Given the description of an element on the screen output the (x, y) to click on. 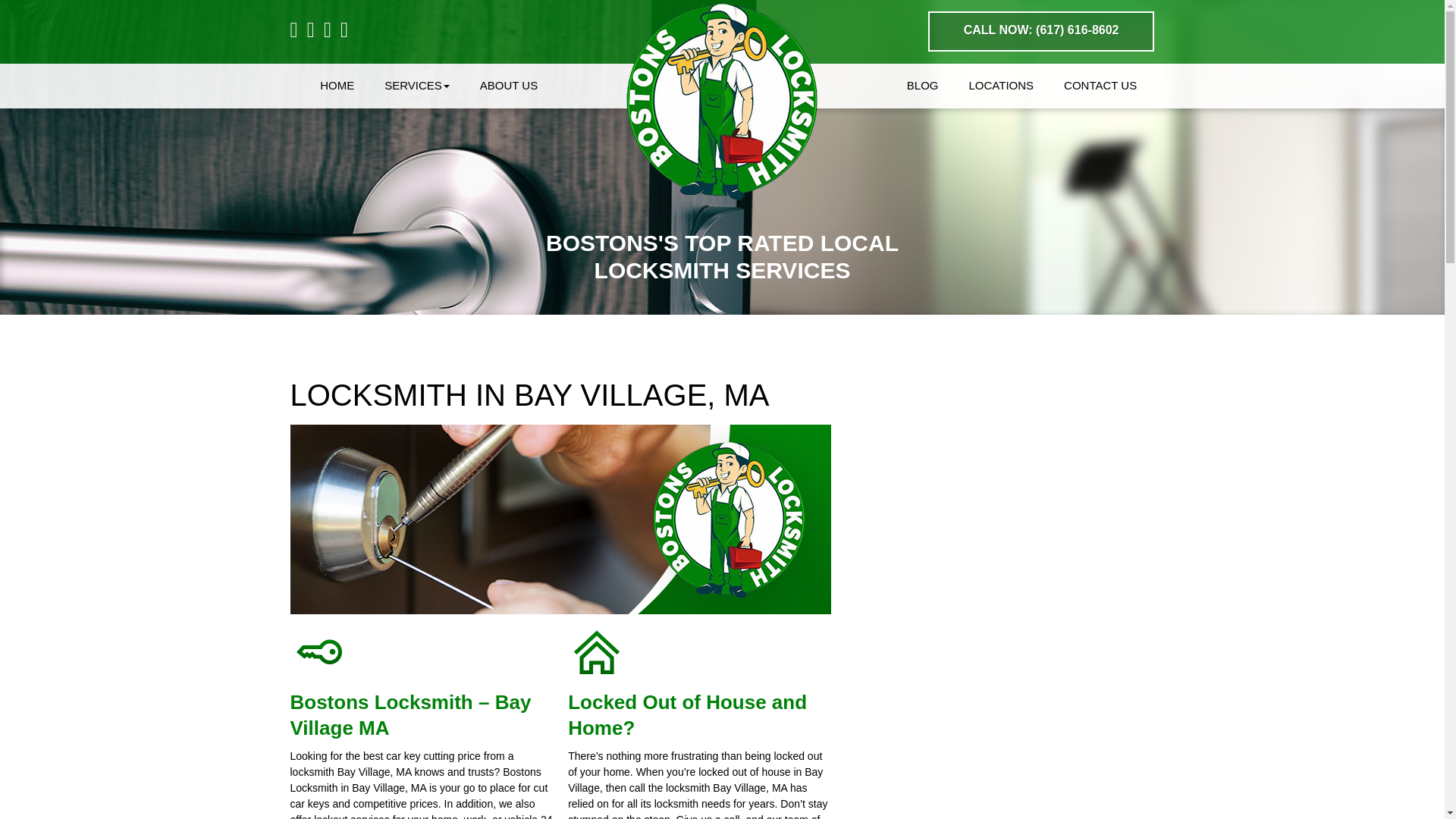
CONTACT US (1085, 85)
HOME (352, 85)
SERVICES (432, 85)
ABOUT US (523, 85)
BLOG (907, 85)
LOCATIONS (986, 85)
